Given the description of an element on the screen output the (x, y) to click on. 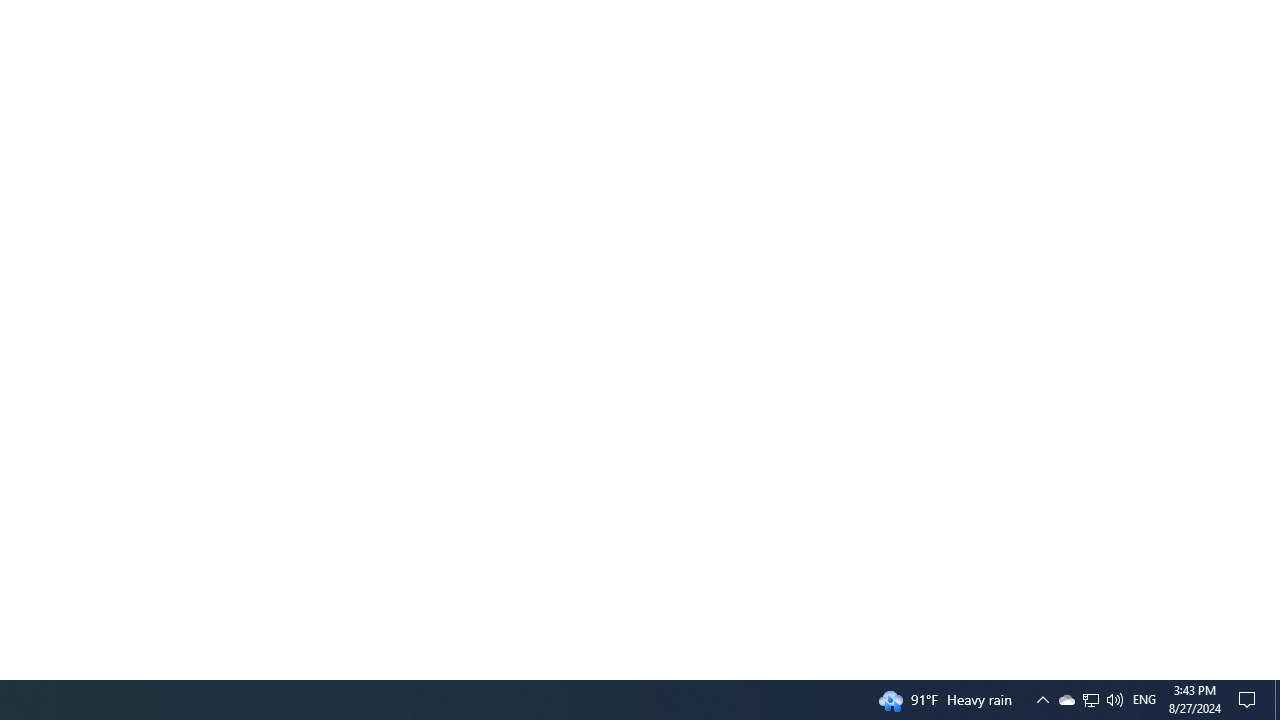
User Promoted Notification Area (1090, 699)
Tray Input Indicator - English (United States) (1144, 699)
Action Center, No new notifications (1066, 699)
Show desktop (1091, 699)
Notification Chevron (1250, 699)
Q2790: 100% (1277, 699)
